Given the description of an element on the screen output the (x, y) to click on. 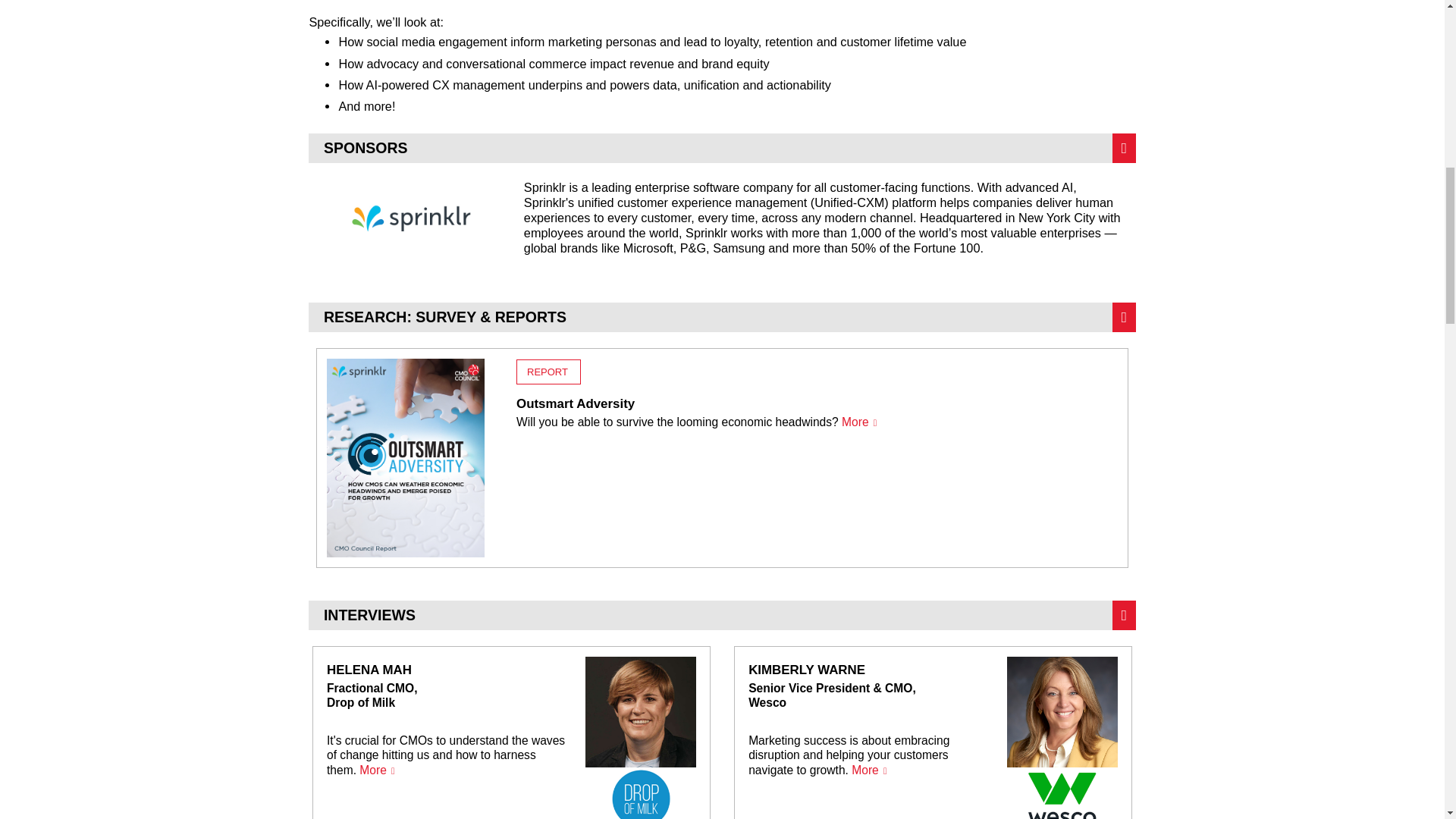
Outsmart Adversity (817, 396)
Sprinklr (411, 217)
Get to Know KIMBERLY WARNE (933, 733)
Get to Know HELENA MAH (511, 733)
